Given the description of an element on the screen output the (x, y) to click on. 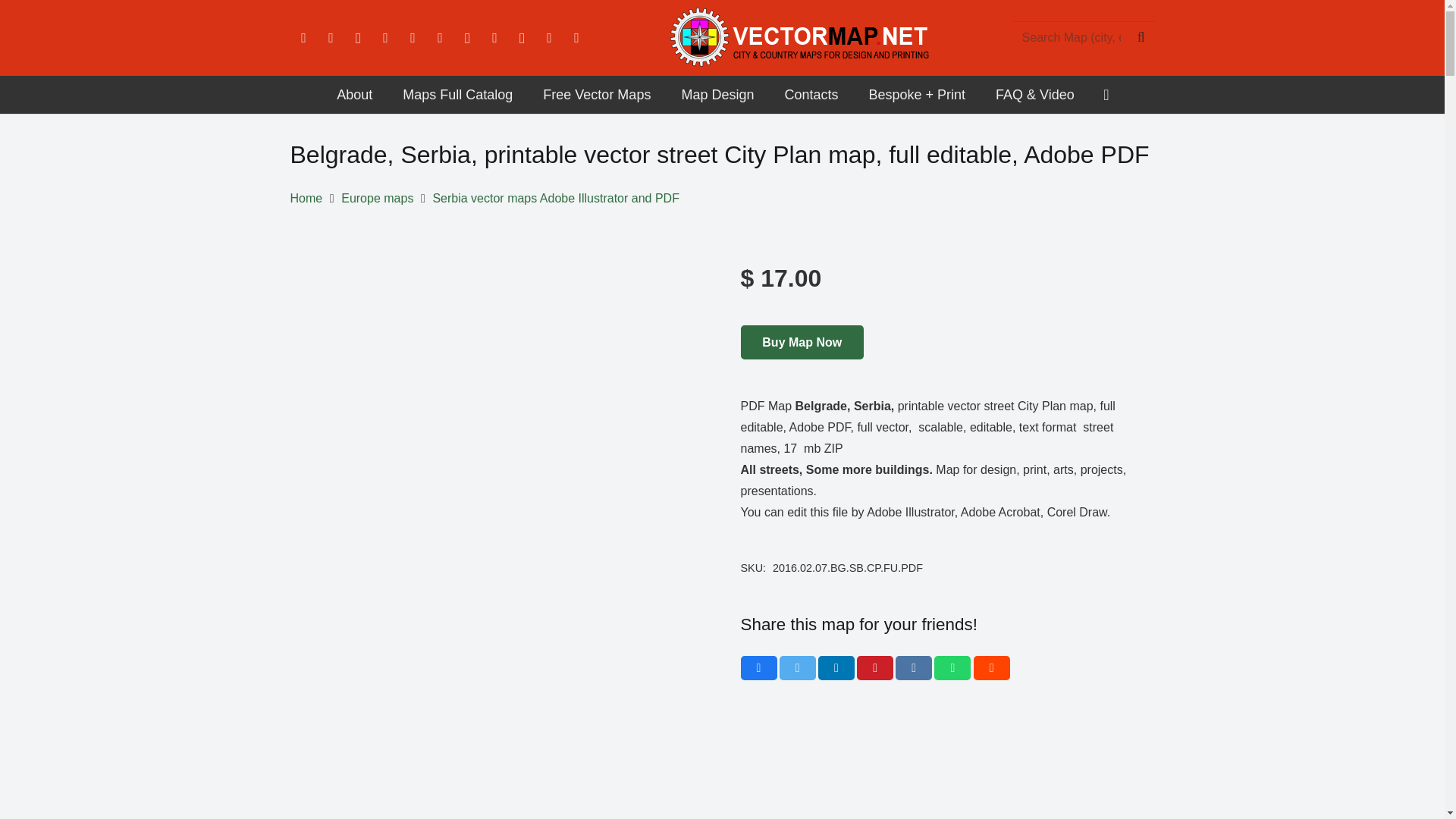
Reddit (466, 37)
YouTube (412, 37)
About (354, 94)
Amazon (439, 37)
Facebook (303, 37)
Maps Full Catalog (457, 94)
ETSY SHOP (548, 37)
LinkedIn (384, 37)
Pinterest (494, 37)
Twitter (330, 37)
Vector Map Developers (354, 94)
Telegram (521, 37)
EBAY (575, 37)
Instagram (357, 37)
